Given the description of an element on the screen output the (x, y) to click on. 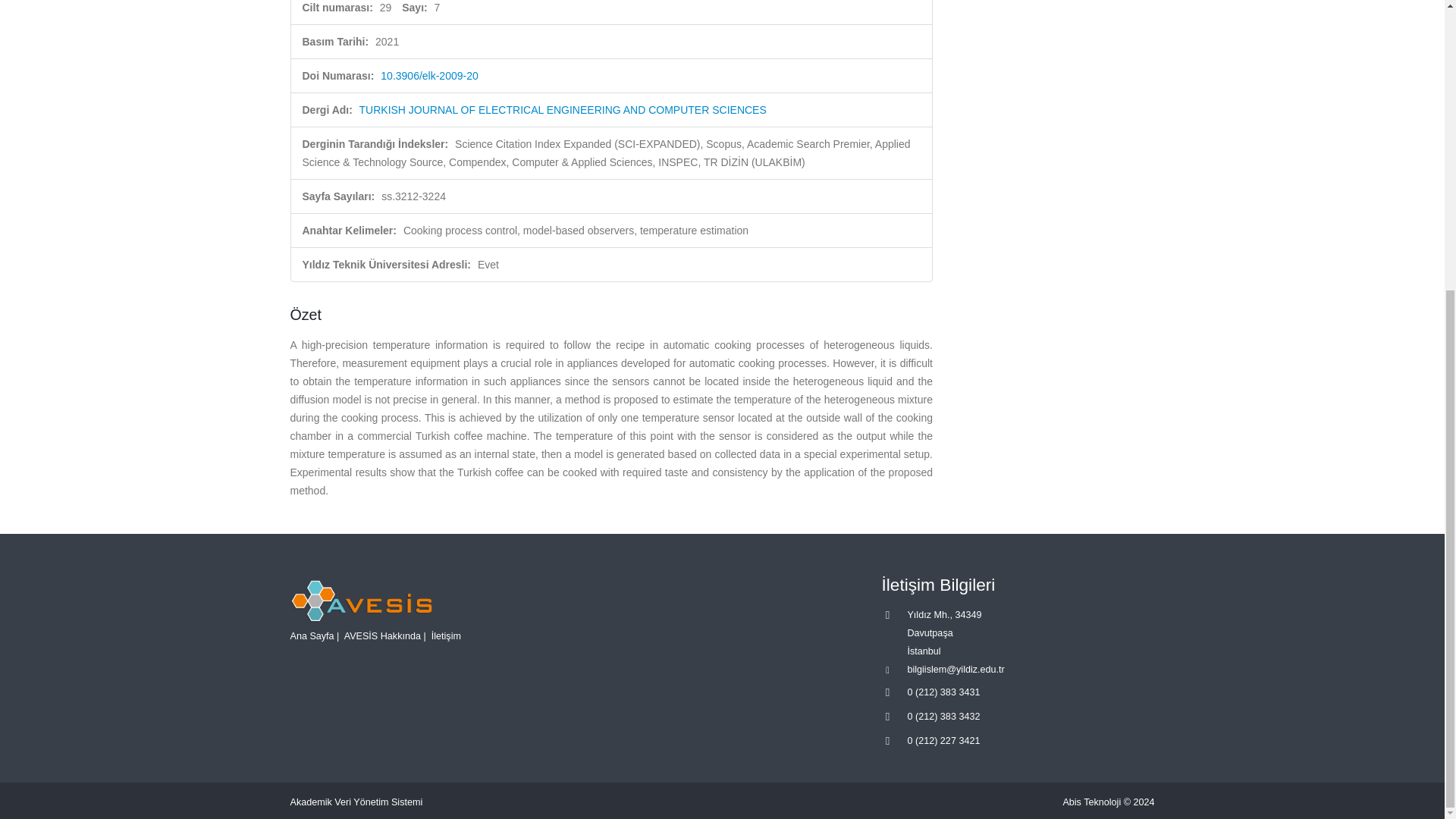
Ana Sayfa (311, 635)
Abis Teknoloji (1091, 801)
